Given the description of an element on the screen output the (x, y) to click on. 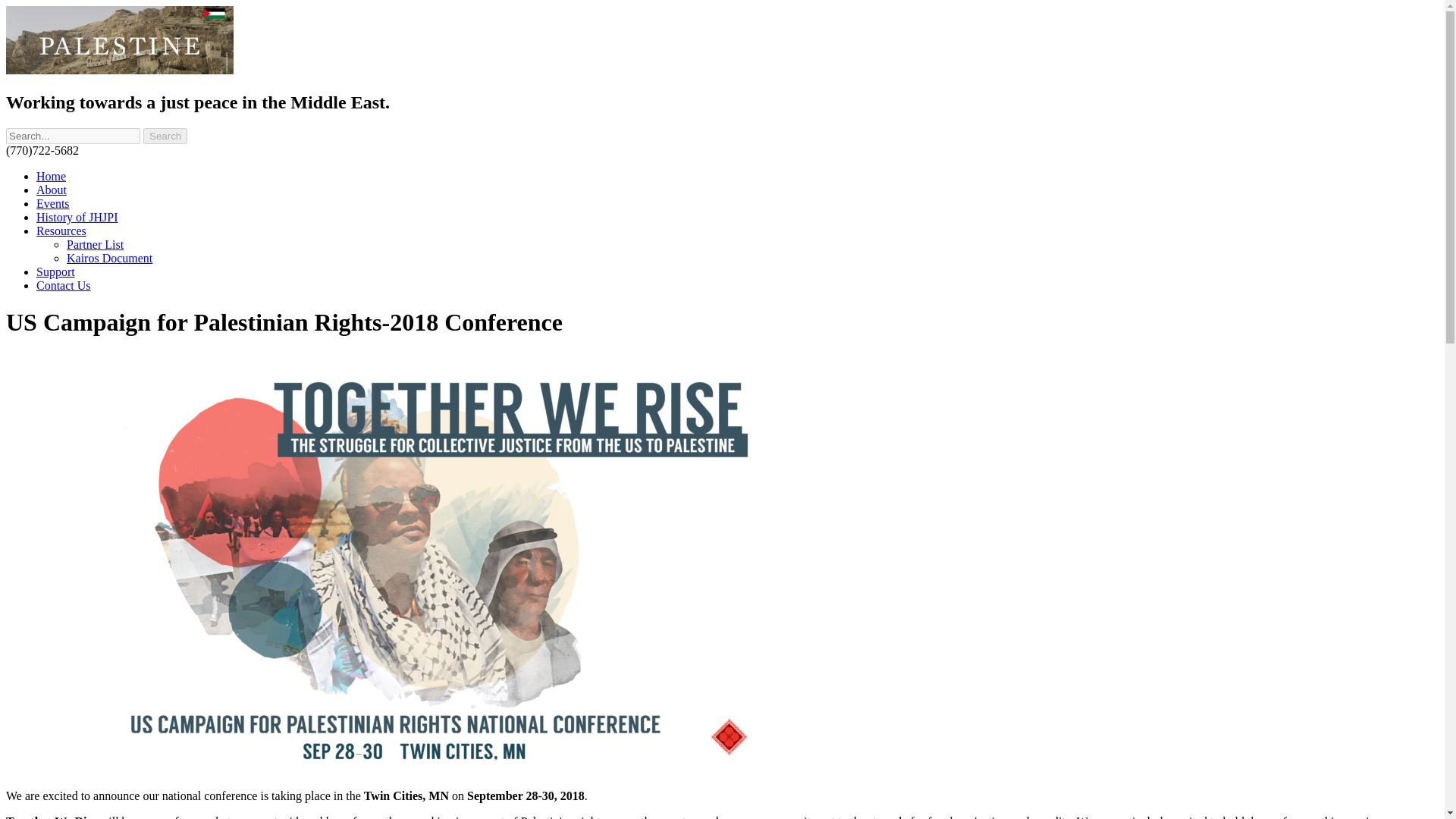
Resources (60, 230)
Search (164, 135)
Search (164, 135)
Partner List (94, 244)
Contact Us (63, 285)
Support (55, 271)
Home (50, 175)
History of JHJPI (76, 216)
About (51, 189)
Kairos Document (109, 257)
Events (52, 203)
